Given the description of an element on the screen output the (x, y) to click on. 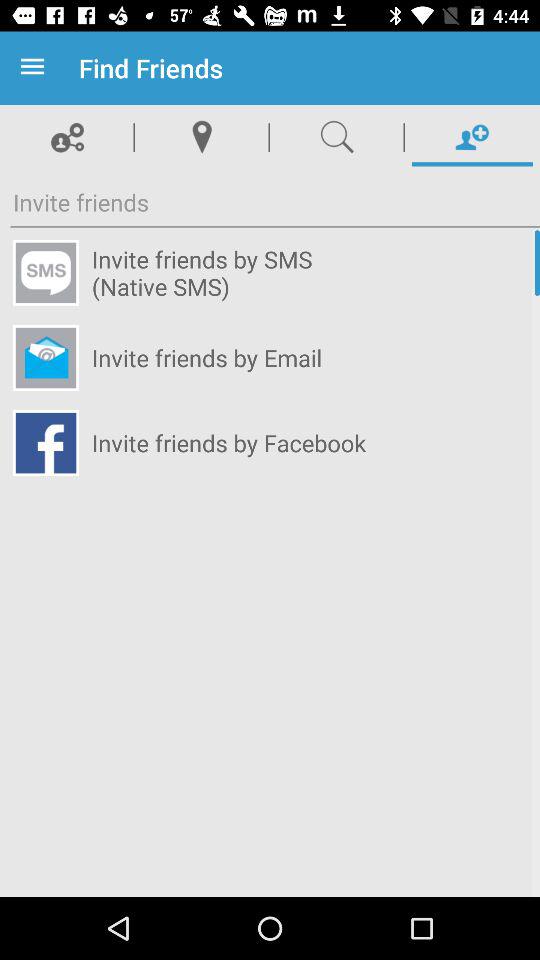
click on sms icon (45, 273)
click above invite friends (67, 136)
click on location icon beside search icon (202, 136)
clicki on the icon right next to search icon (472, 136)
